Given the description of an element on the screen output the (x, y) to click on. 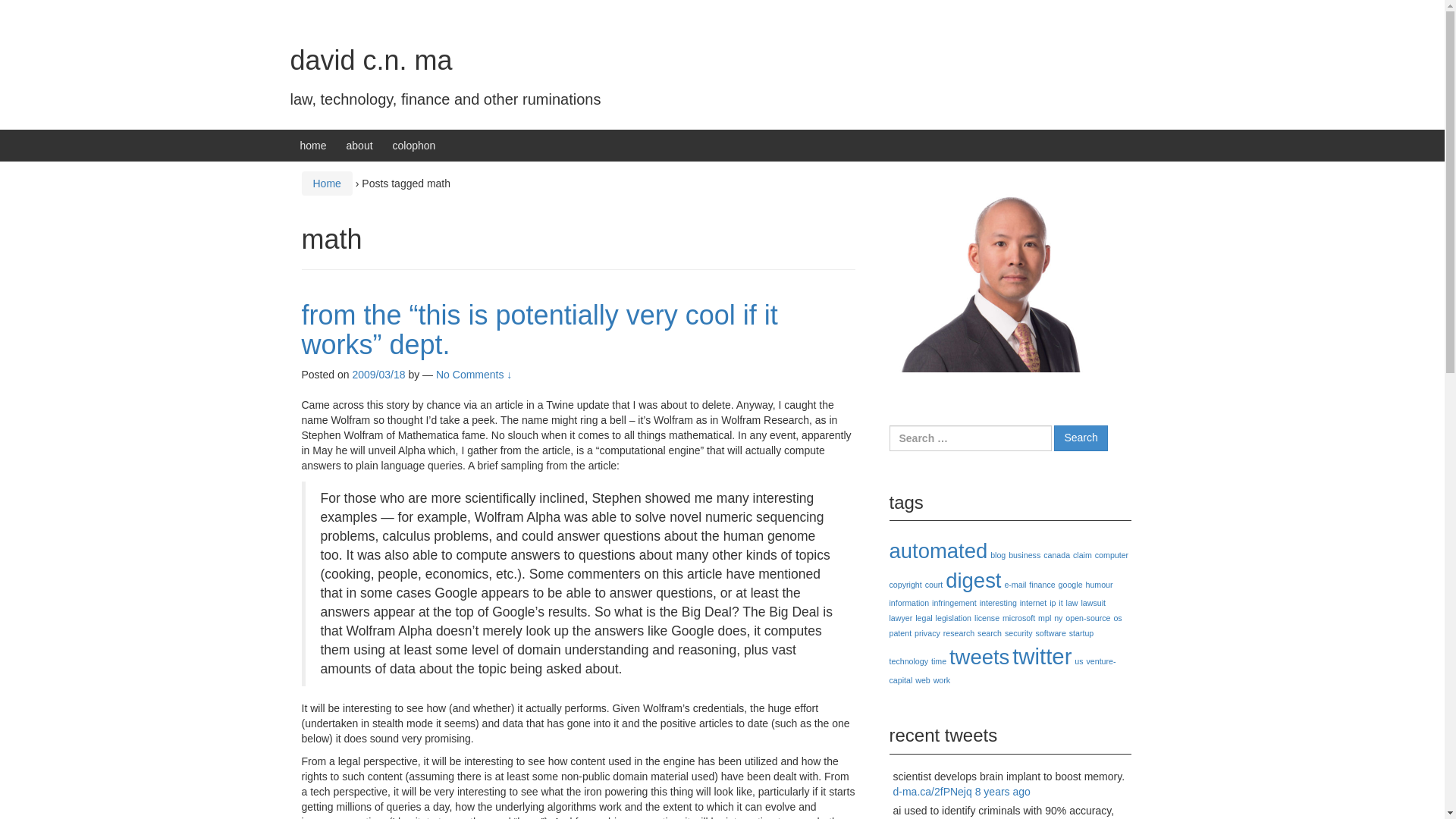
20 topics (1070, 583)
12 topics (998, 554)
16 topics (1056, 554)
9 topics (1015, 583)
10 topics (1041, 583)
david c.n. ma (370, 60)
14 topics (1025, 554)
10 topics (1111, 554)
Search (1080, 438)
home (312, 145)
